Given the description of an element on the screen output the (x, y) to click on. 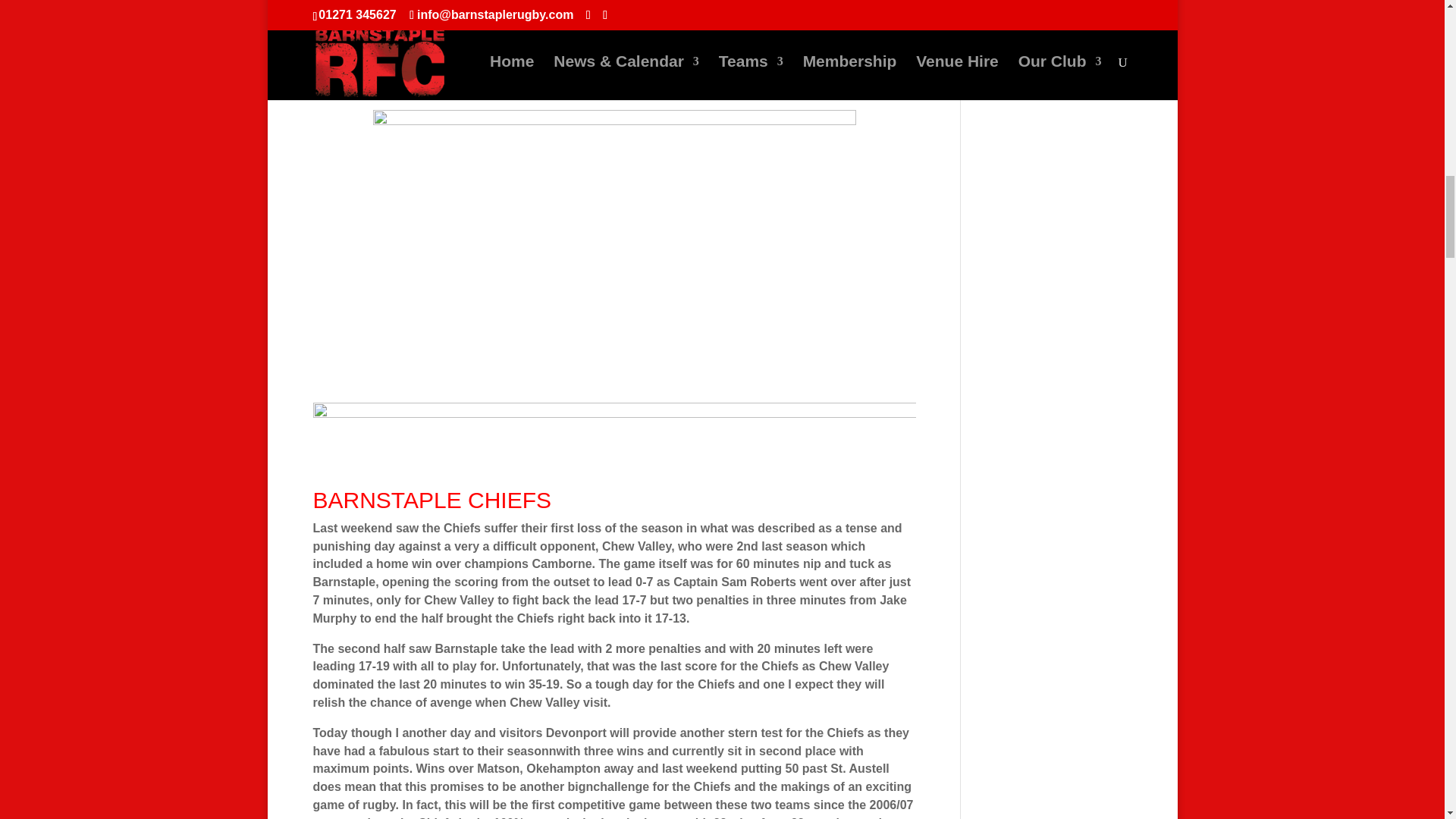
weekend news and team round up ribbon (614, 437)
Picture6 (614, 247)
